Given the description of an element on the screen output the (x, y) to click on. 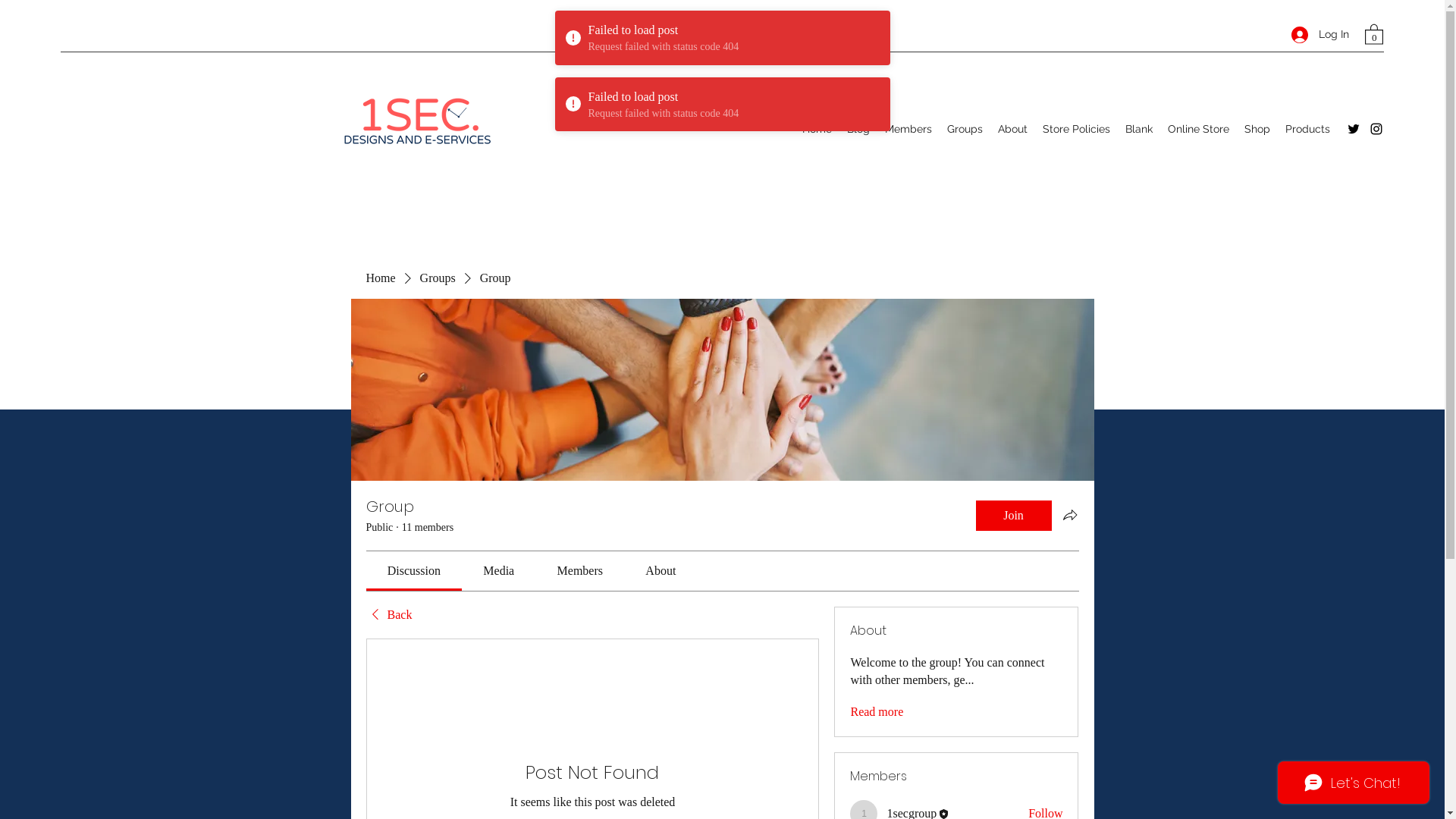
Log In Element type: text (1319, 34)
Home Element type: text (816, 128)
0 Element type: text (1374, 33)
Blank Element type: text (1138, 128)
About Element type: text (1012, 128)
Shop Element type: text (1256, 128)
Members Element type: text (908, 128)
Join Element type: text (1013, 515)
Home Element type: text (380, 277)
Blog Element type: text (858, 128)
Products Element type: text (1307, 128)
Store Policies Element type: text (1076, 128)
Groups Element type: text (437, 277)
Back Element type: text (388, 614)
Read more Element type: text (876, 711)
Groups Element type: text (964, 128)
Online Store Element type: text (1198, 128)
